Given the description of an element on the screen output the (x, y) to click on. 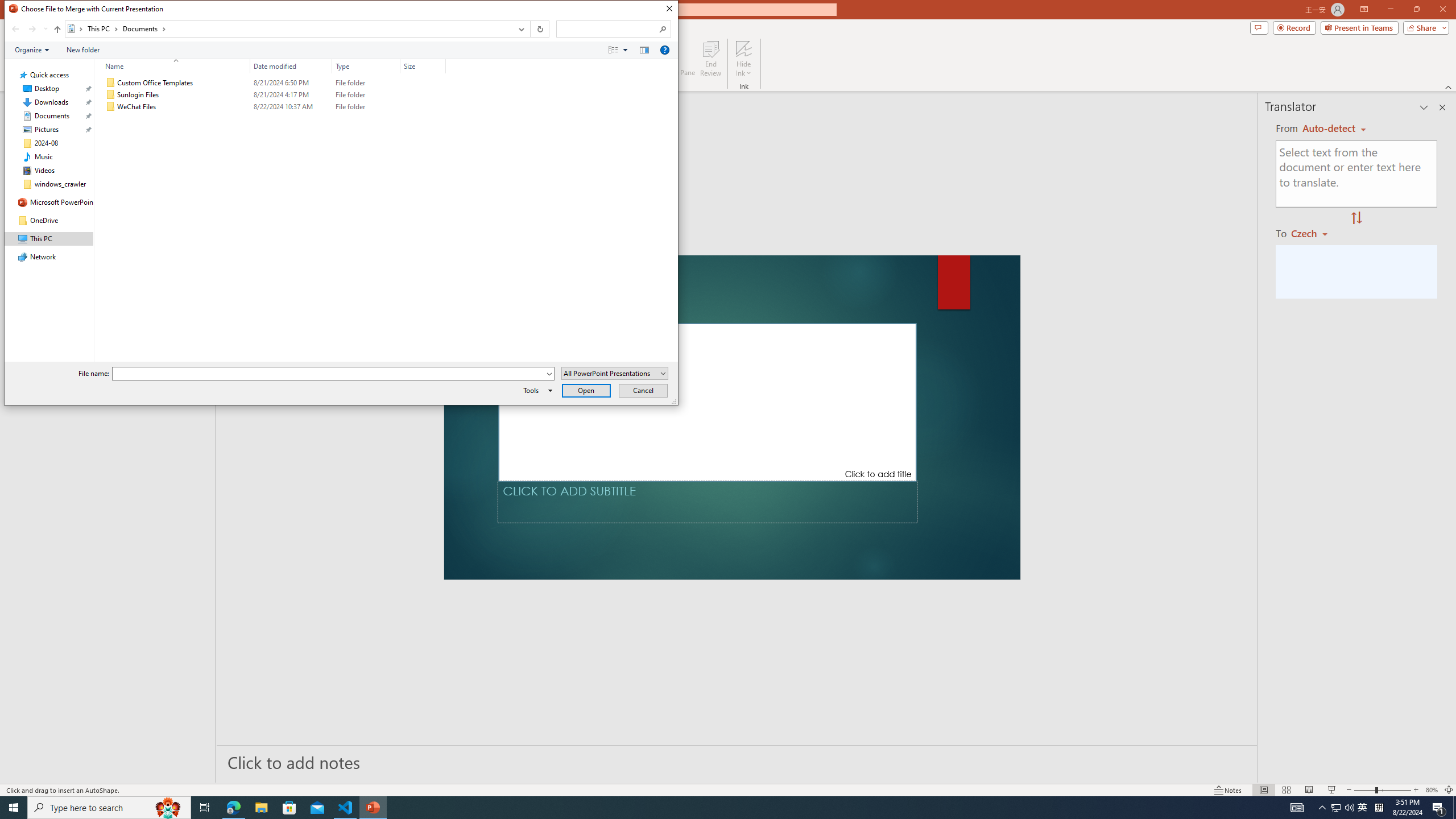
Name (183, 106)
Hide Ink (743, 58)
Name (173, 65)
Navigation buttons (28, 28)
Action Center, 1 new notification (1439, 807)
Custom Office Templates (273, 82)
Forward (Alt + Right Arrow) (31, 28)
Subtitle TextBox (707, 501)
